Given the description of an element on the screen output the (x, y) to click on. 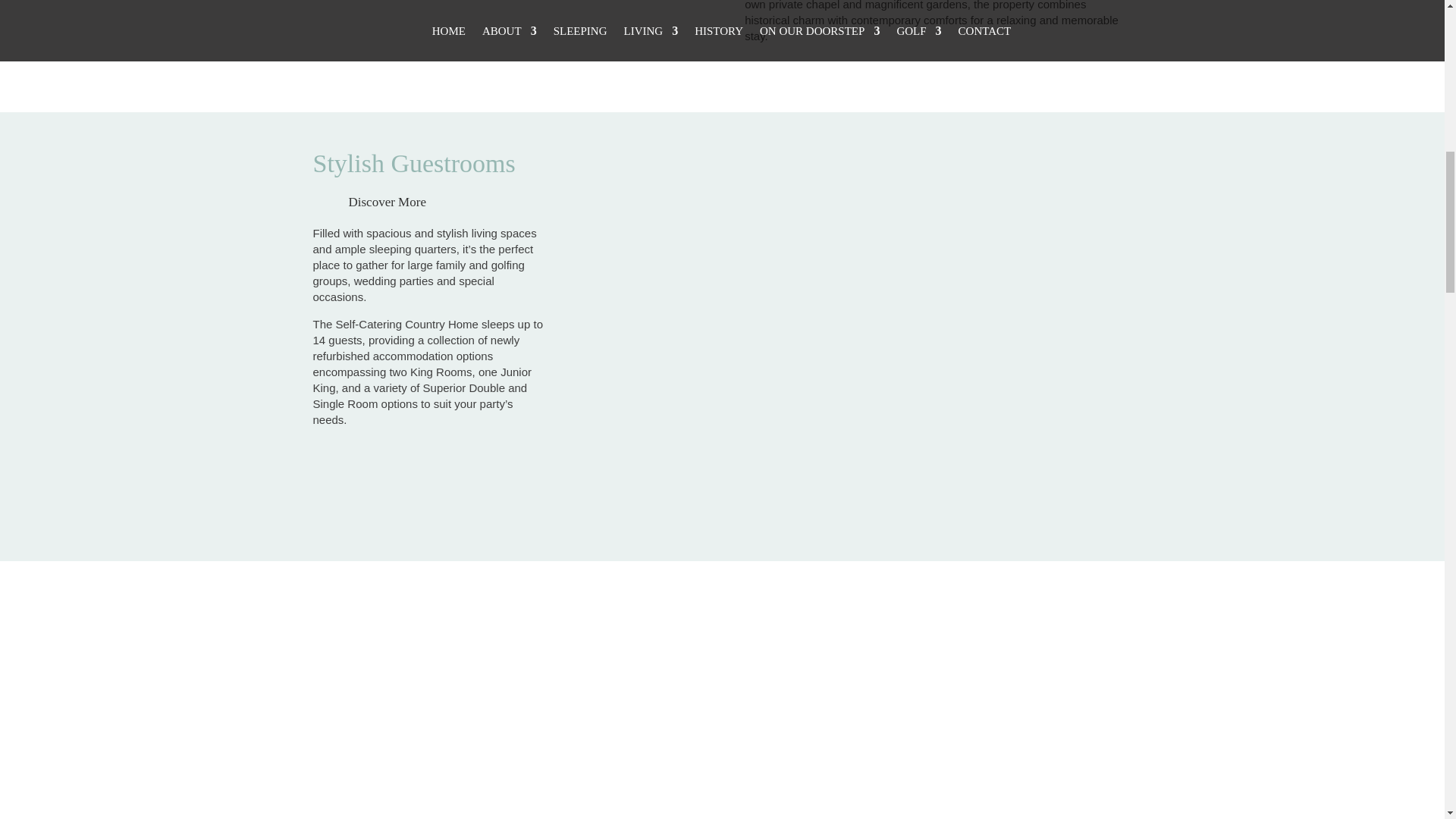
Discover More (387, 201)
Kenmare-House---00036 (443, 66)
